Given the description of an element on the screen output the (x, y) to click on. 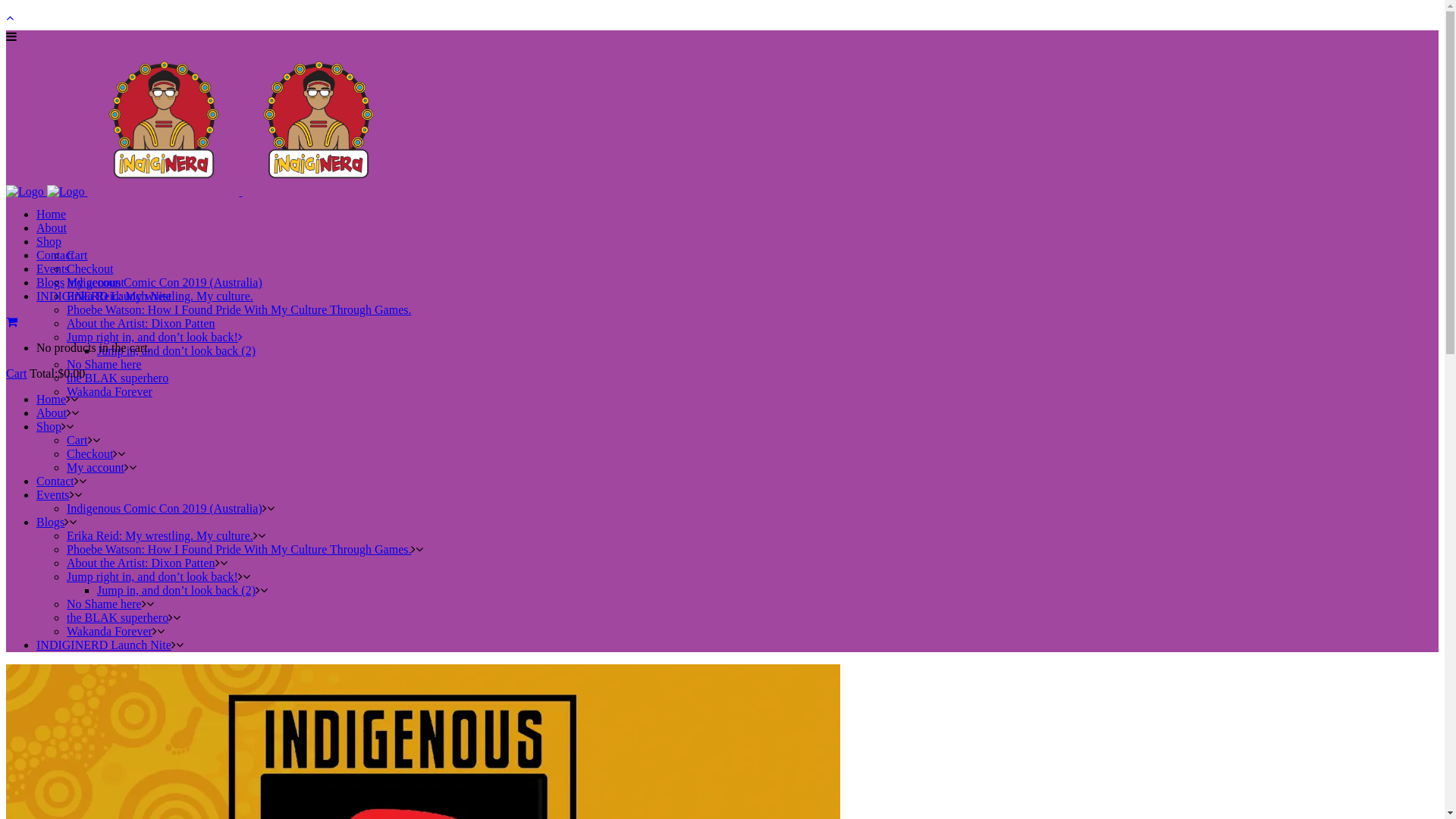
Indigenous Comic Con 2019 (Australia) Element type: text (164, 282)
Indigenous Comic Con 2019 (Australia) Element type: text (164, 508)
Checkout Element type: text (89, 453)
Cart Element type: text (76, 254)
Cart Element type: text (16, 373)
About Element type: text (51, 412)
Erika Reid: My wrestling. My culture. Element type: text (159, 535)
Shop Element type: text (48, 426)
About the Artist: Dixon Patten Element type: text (140, 322)
Contact Element type: text (55, 480)
No Shame here Element type: text (103, 363)
No Shame here Element type: text (103, 603)
Checkout Element type: text (89, 268)
About the Artist: Dixon Patten Element type: text (140, 562)
Blogs Element type: text (50, 282)
INDIGINERD Launch Nite Element type: text (103, 644)
Blogs Element type: text (50, 521)
Shop Element type: text (48, 241)
Cart Element type: text (76, 439)
About Element type: text (51, 227)
the BLAK superhero Element type: text (117, 617)
My account Element type: text (95, 282)
Contact Element type: text (55, 254)
Home Element type: text (50, 398)
Events Element type: text (52, 494)
Events Element type: text (52, 268)
Wakanda Forever Element type: text (109, 391)
the BLAK superhero Element type: text (117, 377)
My account Element type: text (95, 467)
Erika Reid: My wrestling. My culture. Element type: text (159, 295)
INDIGINERD Launch Nite Element type: text (103, 295)
Home Element type: text (50, 213)
Wakanda Forever Element type: text (109, 630)
